Given the description of an element on the screen output the (x, y) to click on. 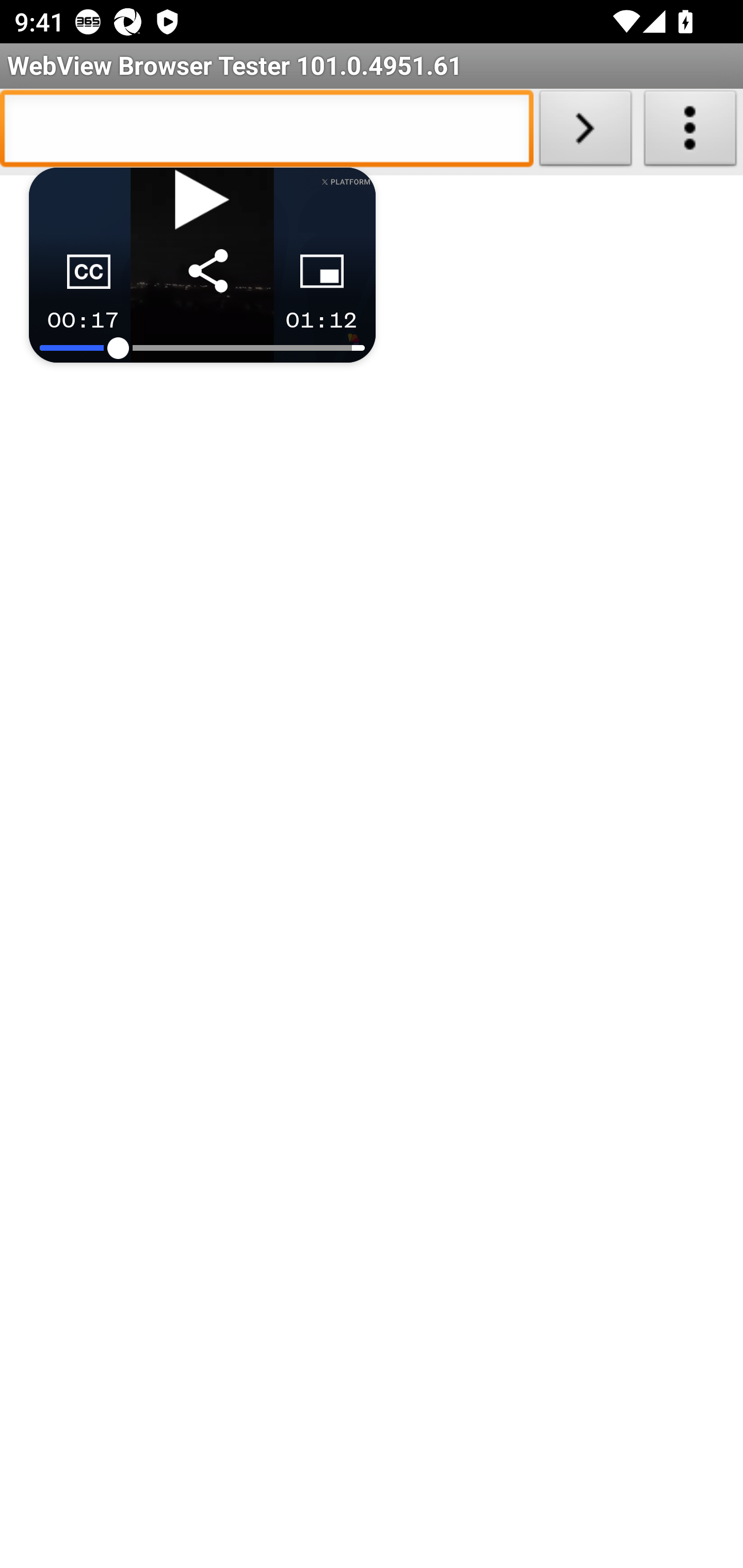
Load URL (585, 132)
About WebView (690, 132)
